Given the description of an element on the screen output the (x, y) to click on. 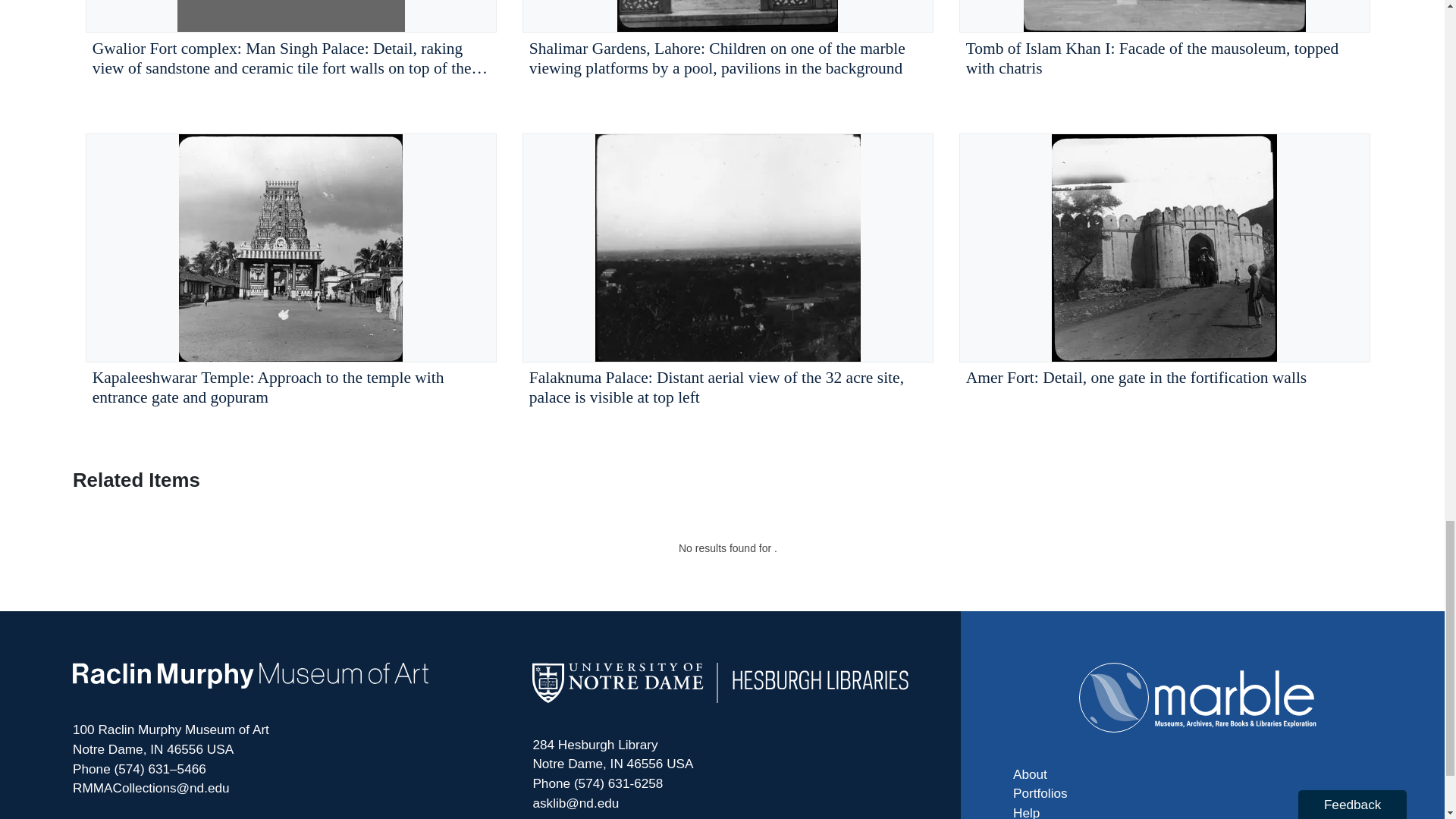
About (1198, 774)
Help (1198, 811)
Portfolios (1198, 793)
About (1198, 774)
Amer Fort: Detail, one gate in the fortification walls (1164, 273)
Help (1198, 811)
